Given the description of an element on the screen output the (x, y) to click on. 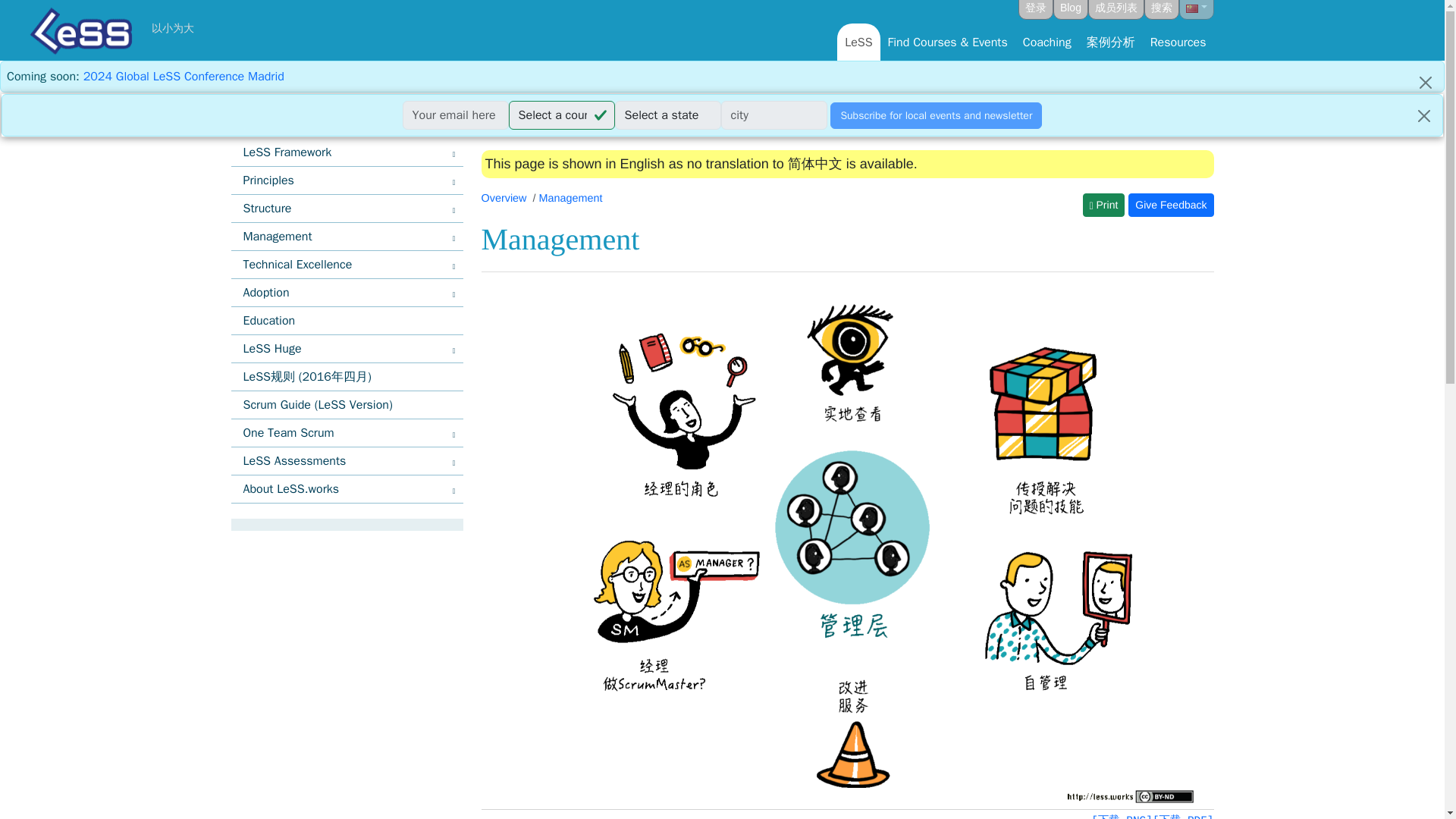
Subscribe for local events and newsletter (935, 115)
Blog (1069, 9)
LeSS (858, 41)
